Given the description of an element on the screen output the (x, y) to click on. 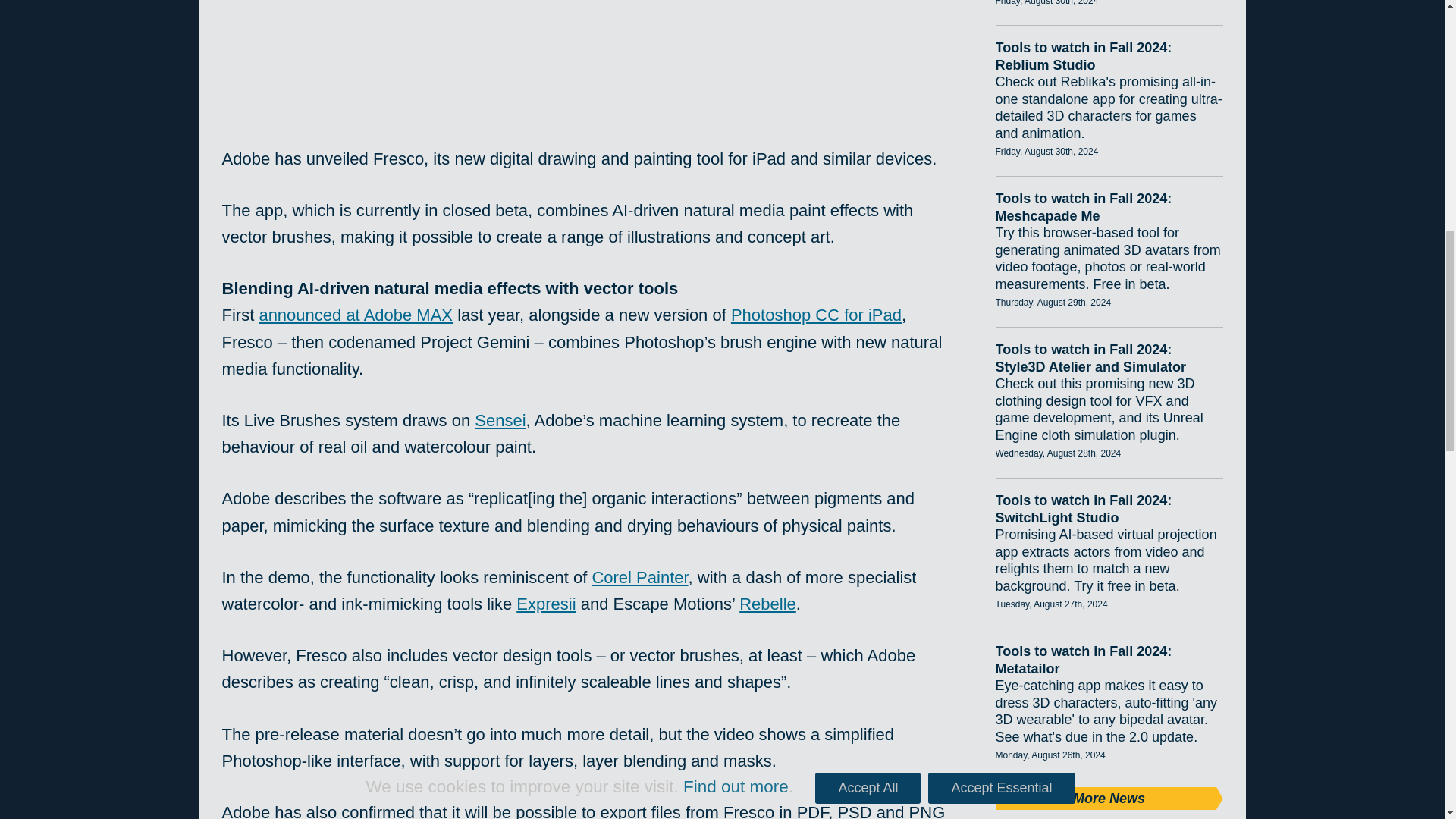
Photoshop CC for iPad (815, 314)
Expresii (545, 603)
Rebelle (767, 603)
Sensei (499, 420)
Corel Painter (639, 577)
announced at Adobe MAX (355, 314)
